Given the description of an element on the screen output the (x, y) to click on. 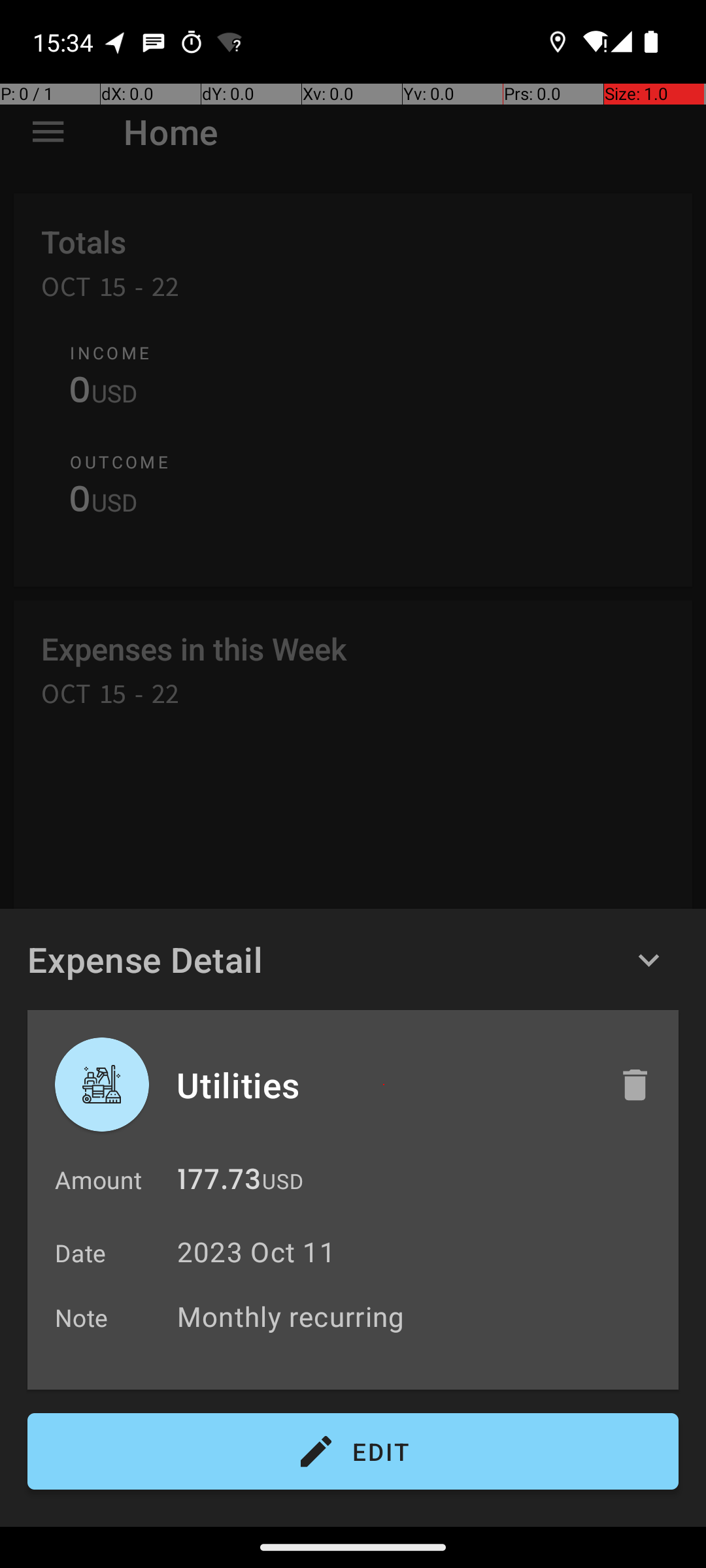
Utilities Element type: android.widget.TextView (383, 1084)
177.73 Element type: android.widget.TextView (218, 1182)
